Given the description of an element on the screen output the (x, y) to click on. 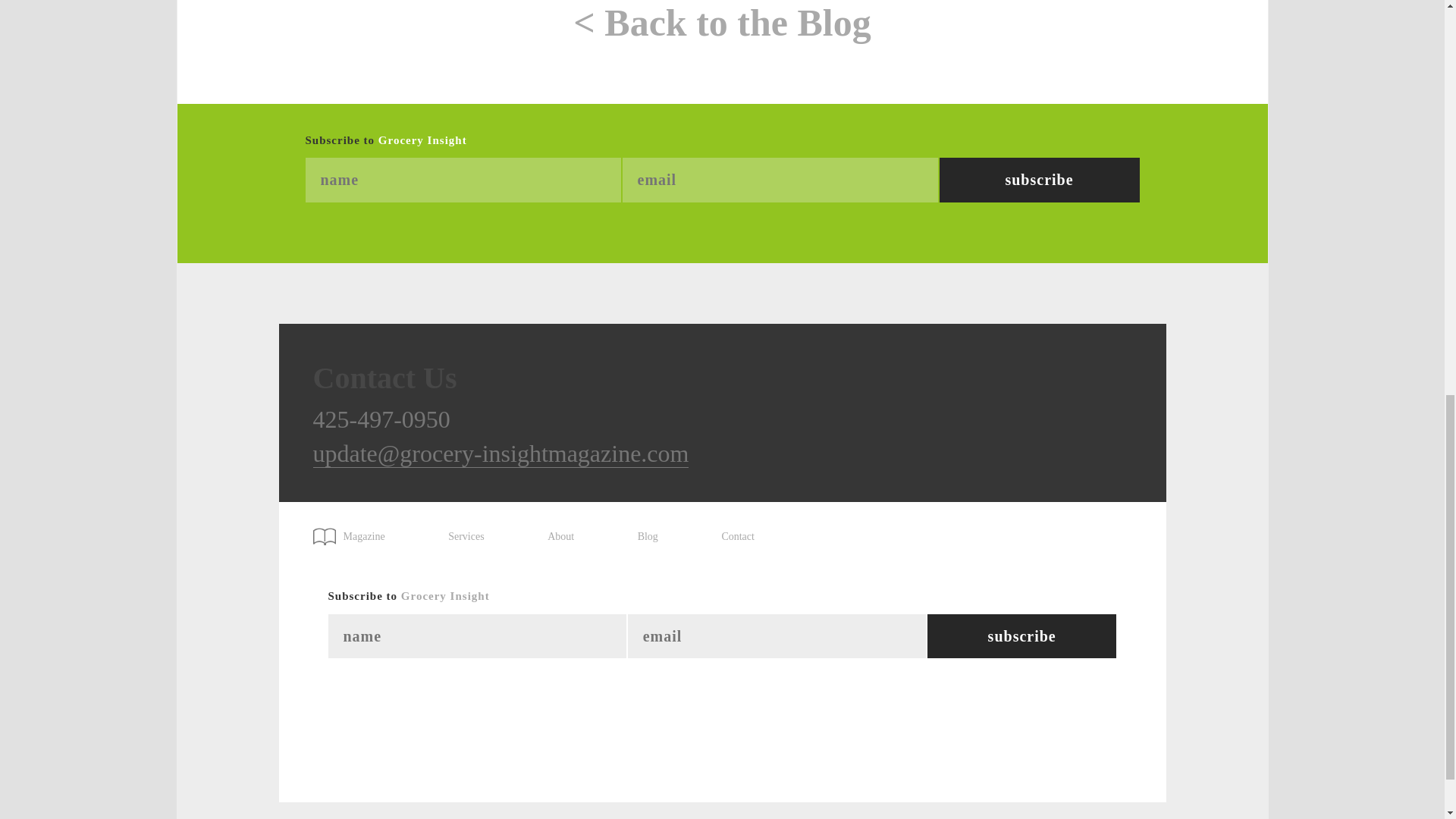
Subscribe (1038, 180)
Magazine (355, 530)
Subscribe (1038, 180)
Contact (737, 536)
About (560, 536)
Services (465, 536)
Subscribe (1021, 636)
Subscribe (1021, 636)
Blog (647, 536)
